Given the description of an element on the screen output the (x, y) to click on. 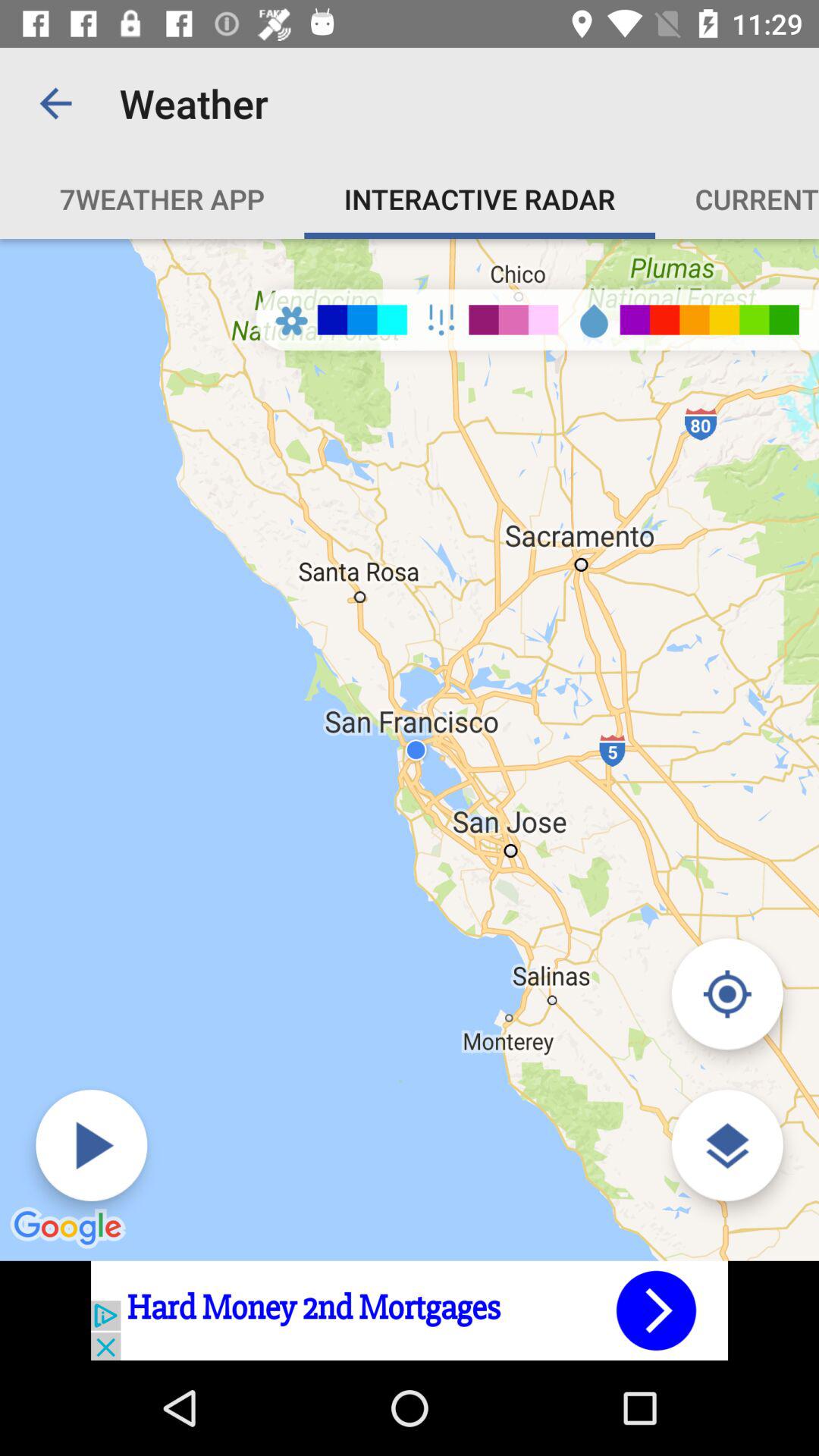
layer buttom (727, 1145)
